Given the description of an element on the screen output the (x, y) to click on. 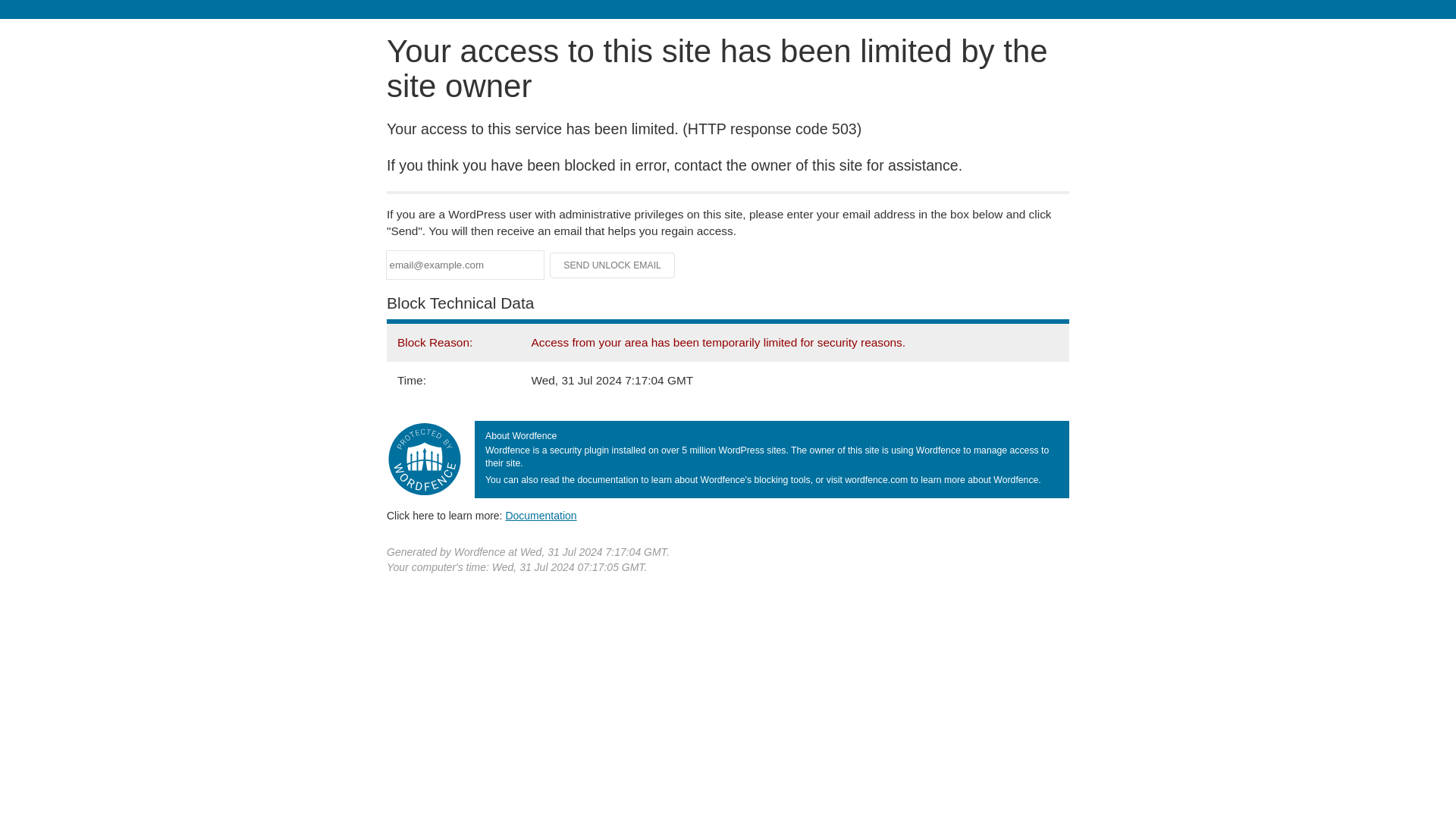
Documentation (540, 515)
Send Unlock Email (612, 265)
Send Unlock Email (612, 265)
